Given the description of an element on the screen output the (x, y) to click on. 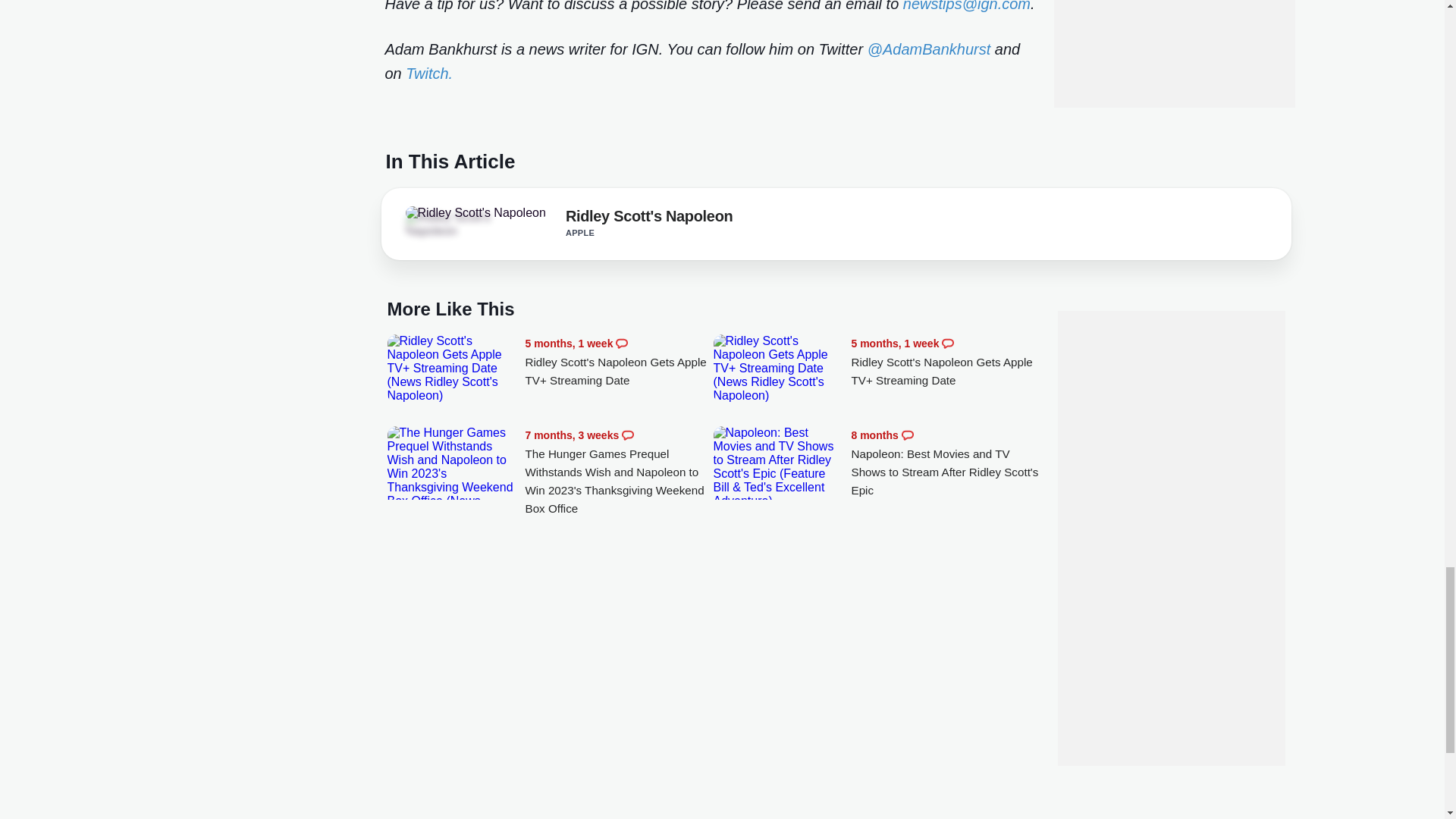
Ridley Scott's Napoleon (448, 224)
Ridley Scott's Napoleon (474, 213)
Ridley Scott's Napoleon (649, 219)
Comments (947, 343)
Comments (627, 435)
Comments (621, 343)
Comments (907, 435)
